Given the description of an element on the screen output the (x, y) to click on. 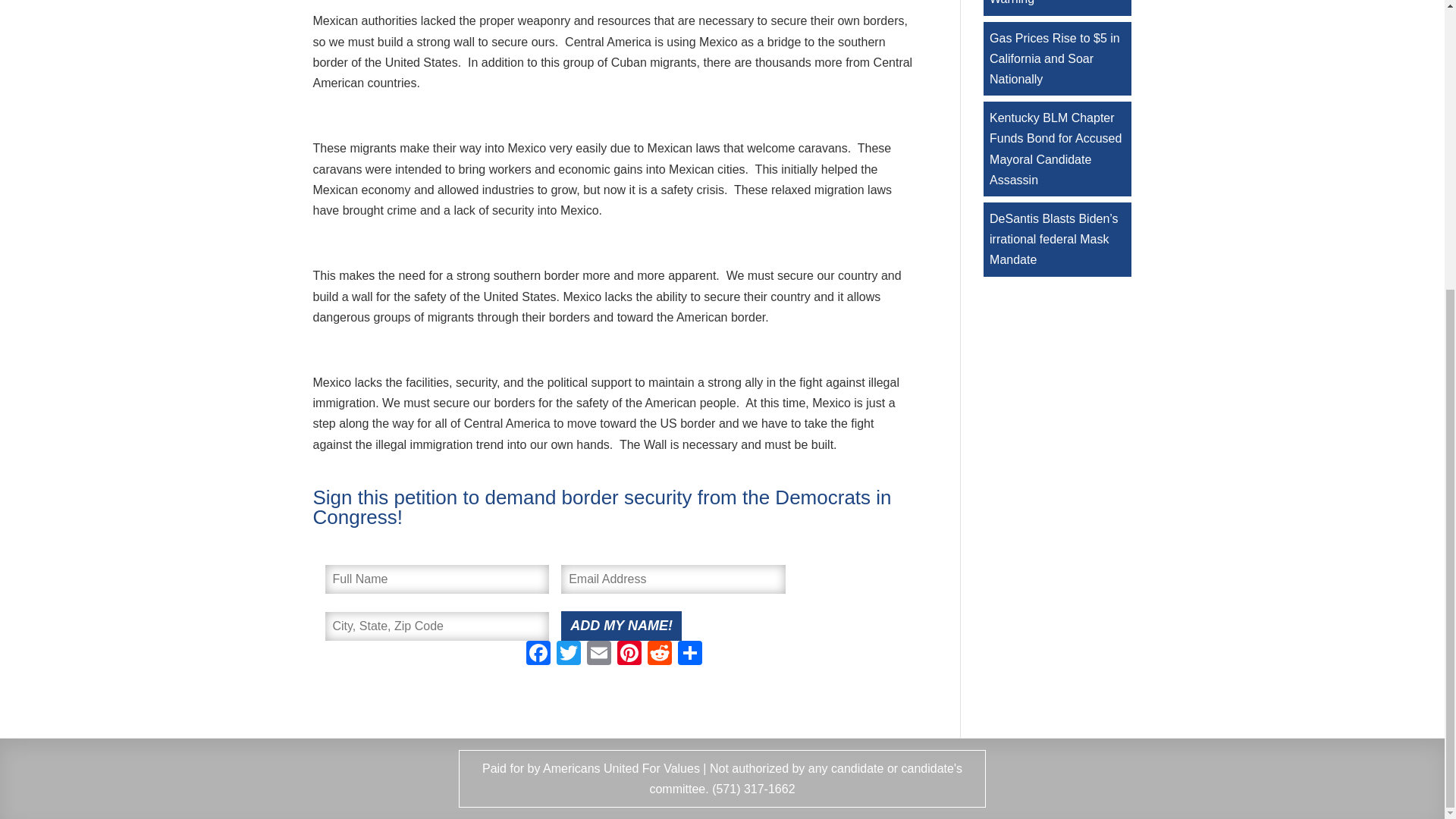
Pinterest (629, 654)
Reddit (660, 654)
Twitter (568, 654)
Email (598, 654)
Email (598, 654)
Facebook (537, 654)
Pinterest (629, 654)
Twitter (568, 654)
Facebook (537, 654)
Add my name! (620, 625)
Add my name! (620, 625)
Reddit (660, 654)
